Given the description of an element on the screen output the (x, y) to click on. 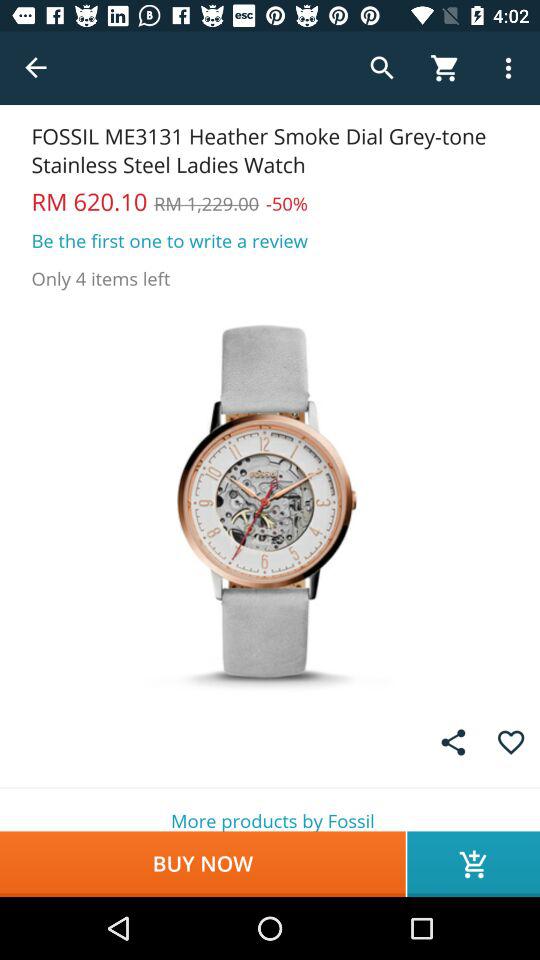
choose icon to the right of buy now (473, 863)
